Given the description of an element on the screen output the (x, y) to click on. 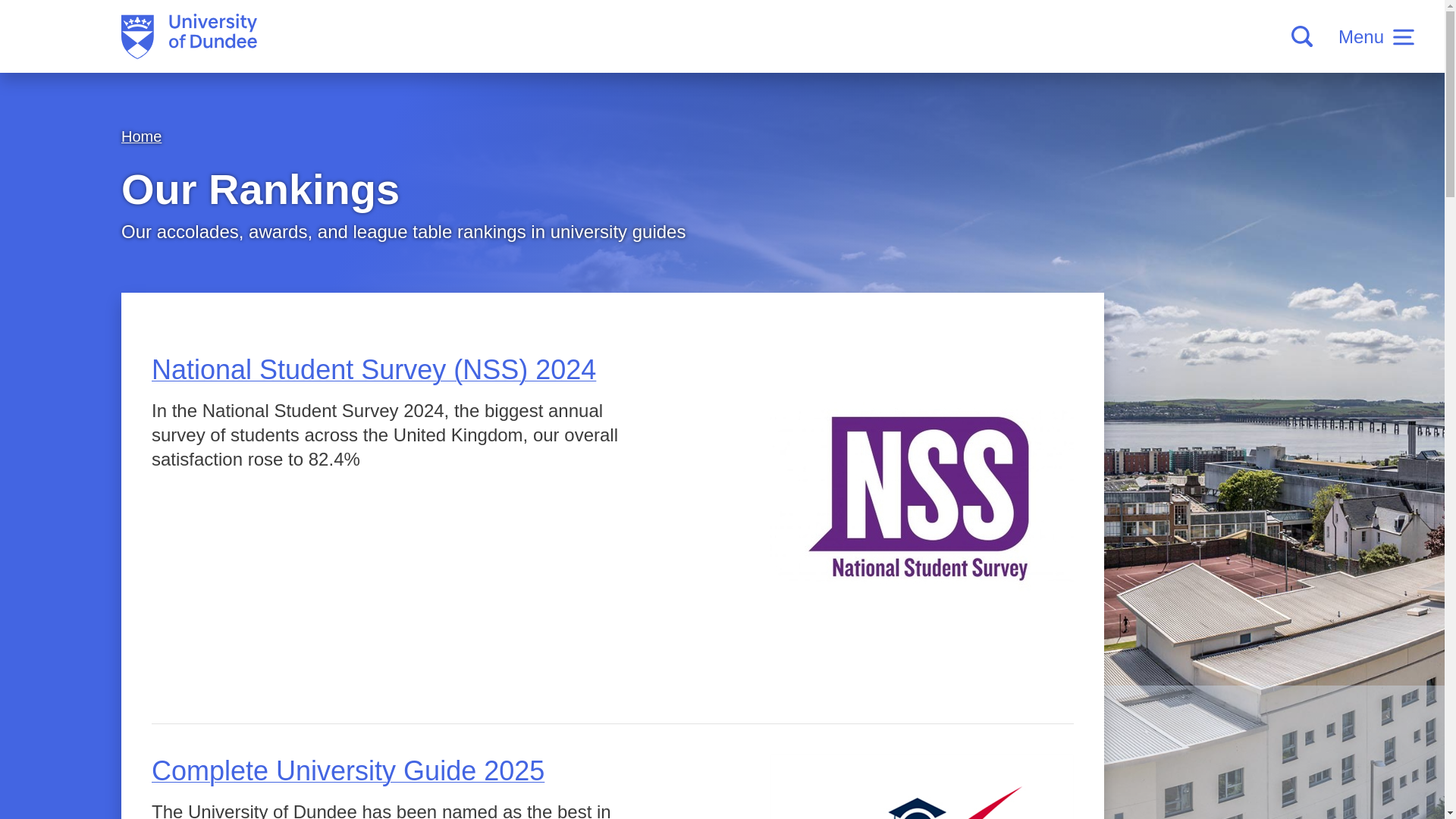
Menu (1375, 36)
University of Dundee (188, 35)
